Given the description of an element on the screen output the (x, y) to click on. 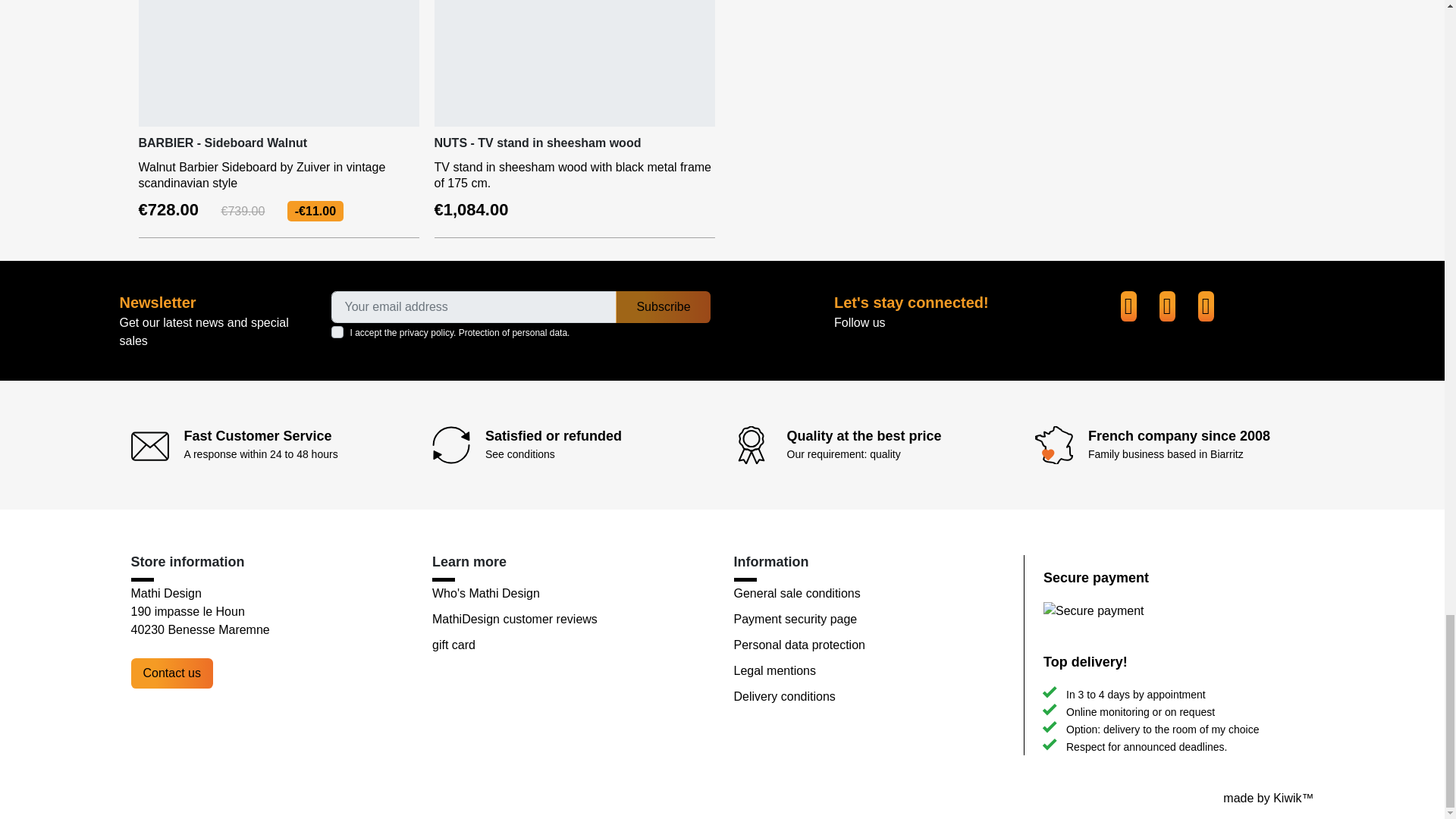
Subscribe (662, 306)
